Given the description of an element on the screen output the (x, y) to click on. 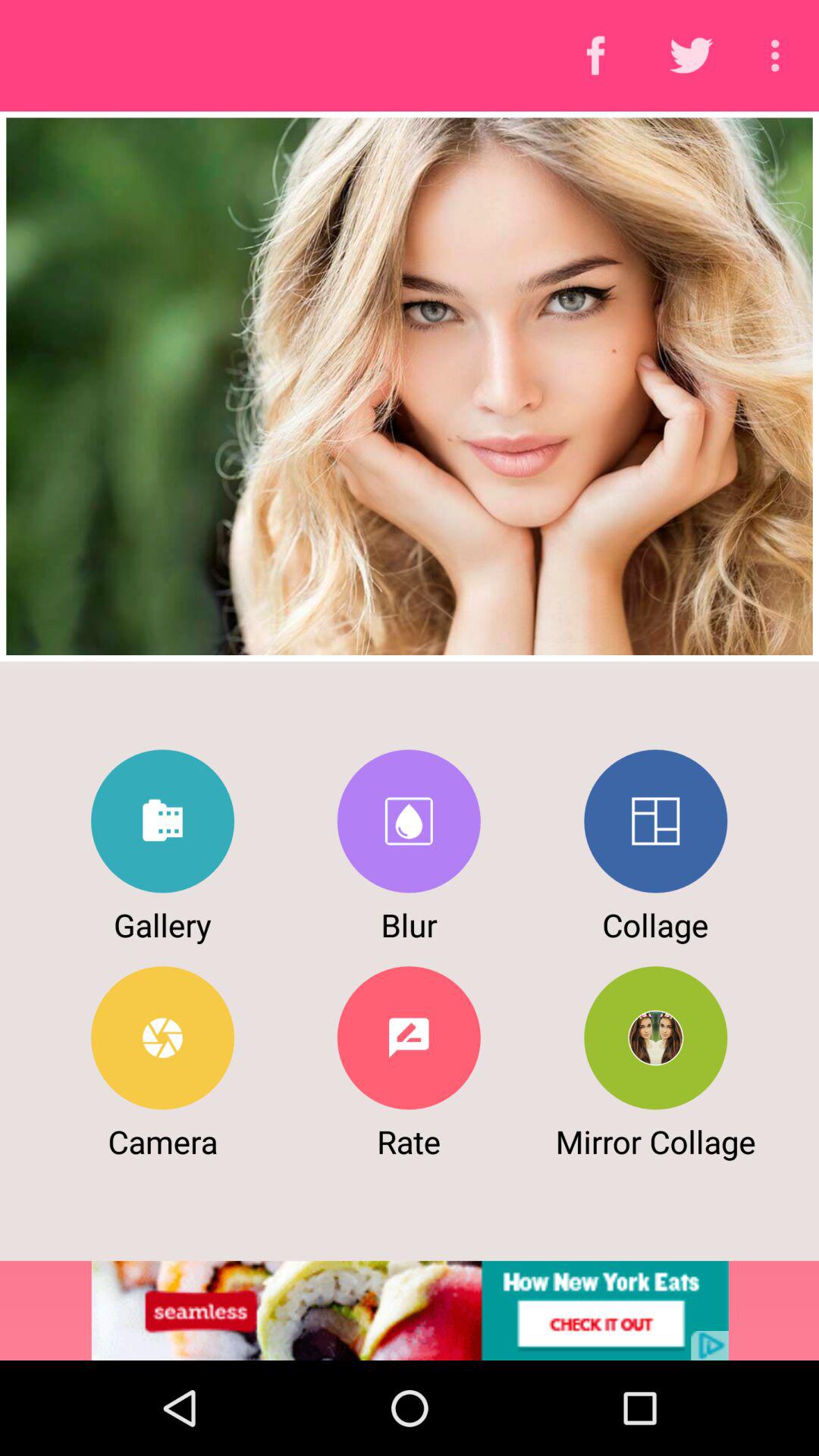
rate the application (408, 1037)
